Given the description of an element on the screen output the (x, y) to click on. 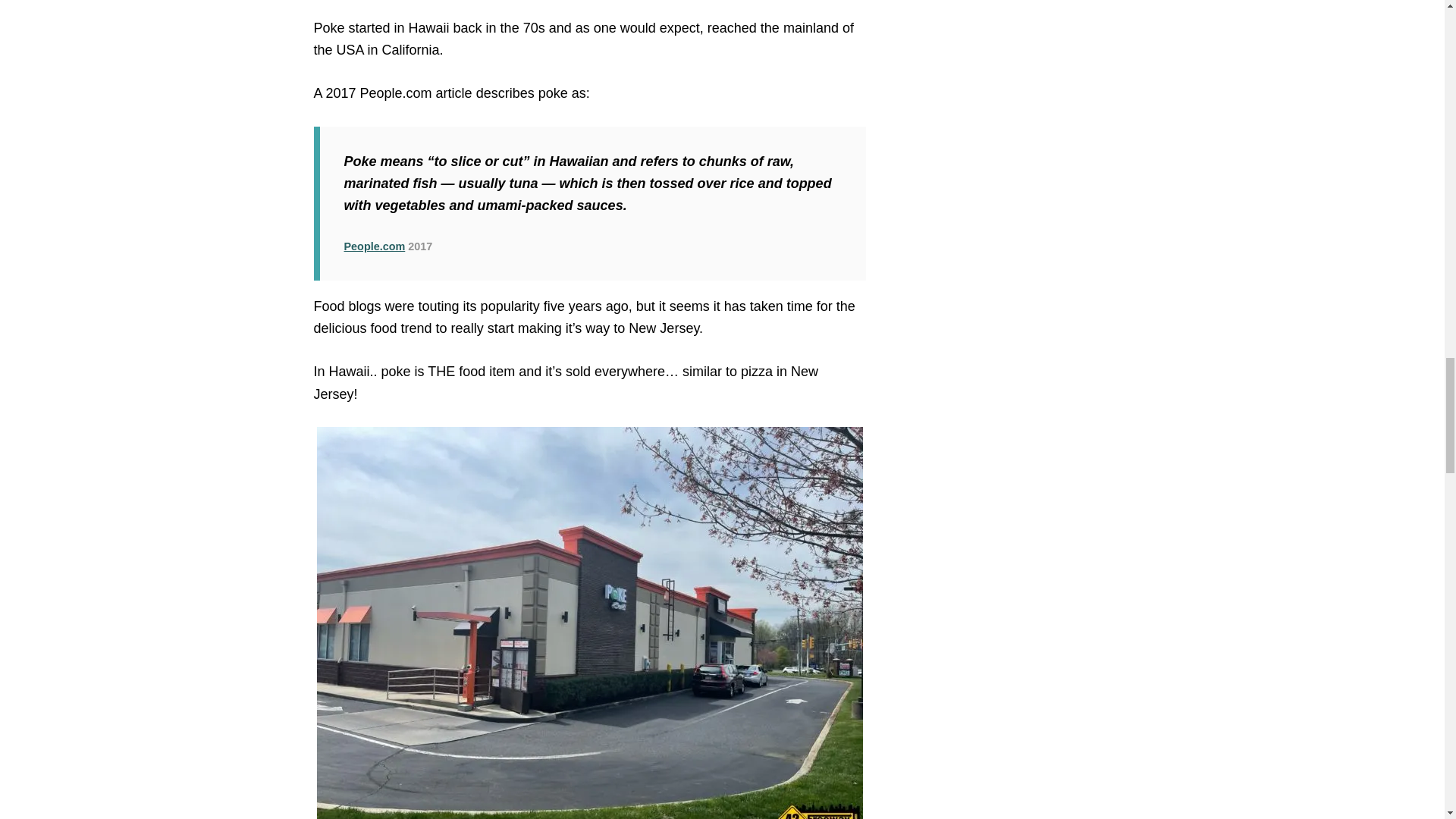
People.com (374, 246)
